Given the description of an element on the screen output the (x, y) to click on. 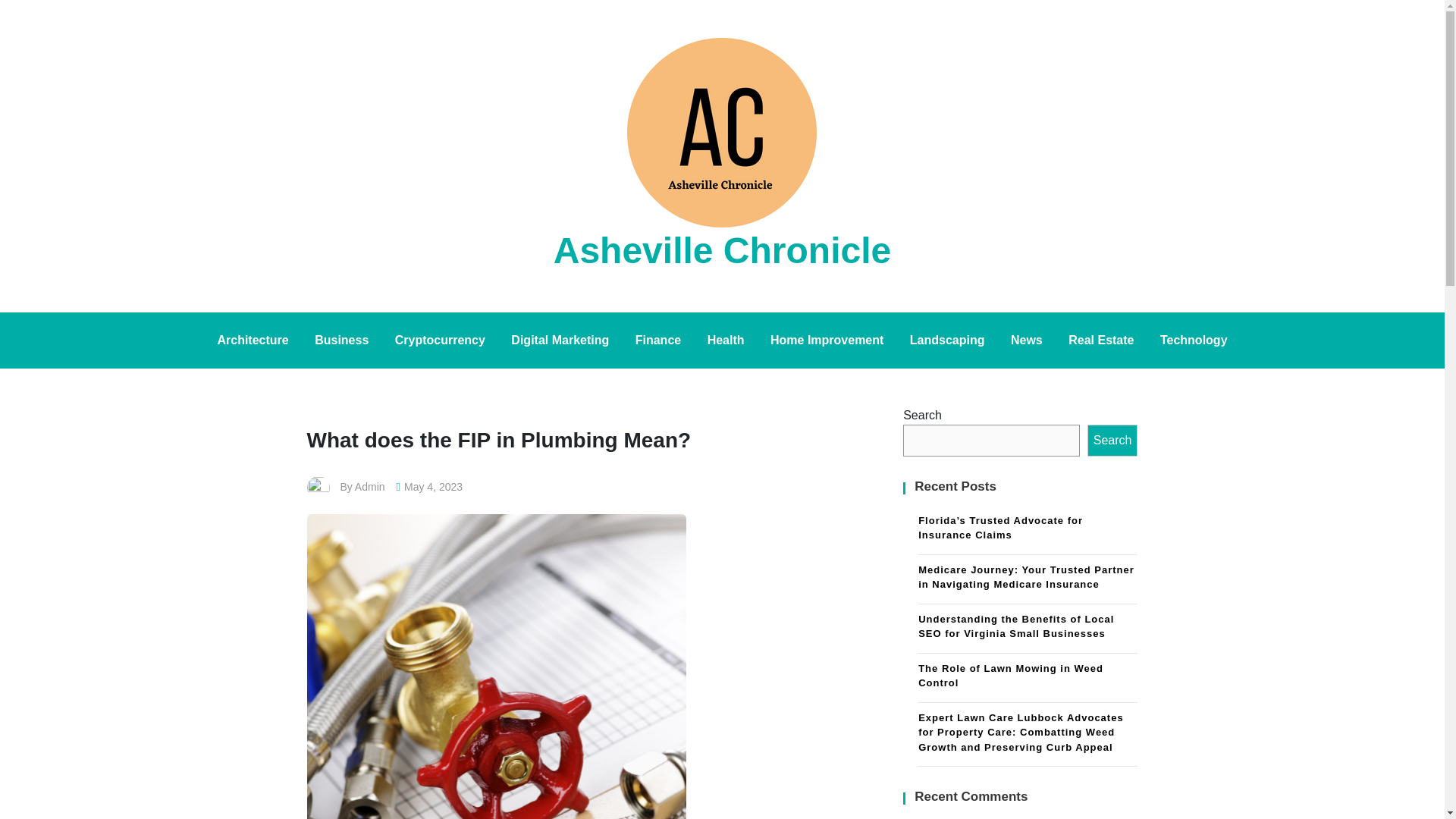
The Role of Lawn Mowing in Weed Control (1027, 677)
Business (341, 340)
Architecture (252, 340)
Finance (658, 340)
Admin (370, 486)
Health (725, 340)
Real Estate (1100, 340)
Home Improvement (826, 340)
Landscaping (946, 340)
News (1026, 340)
Cryptocurrency (440, 340)
Digital Marketing (559, 340)
